Given the description of an element on the screen output the (x, y) to click on. 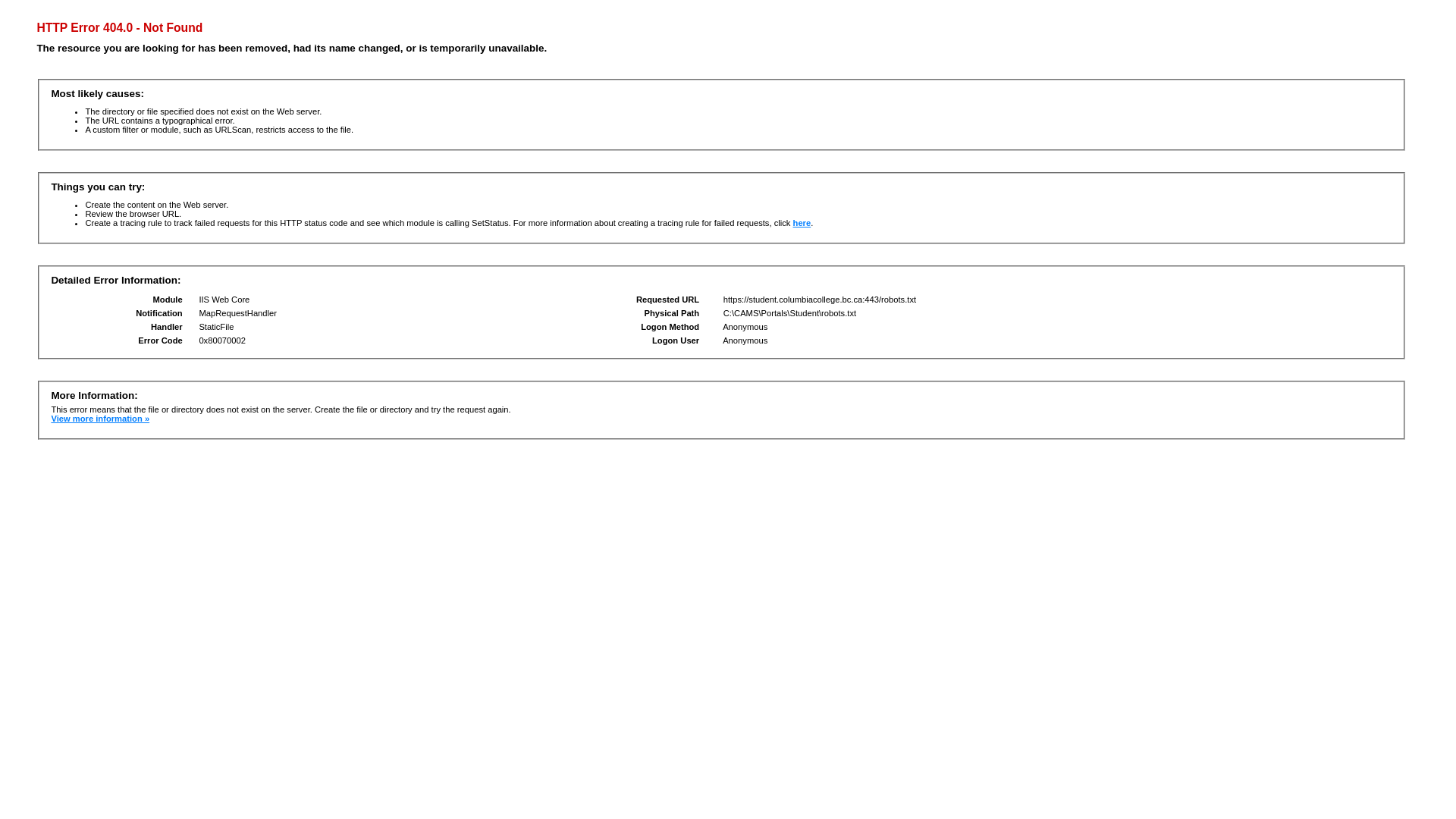
here Element type: text (802, 222)
